Given the description of an element on the screen output the (x, y) to click on. 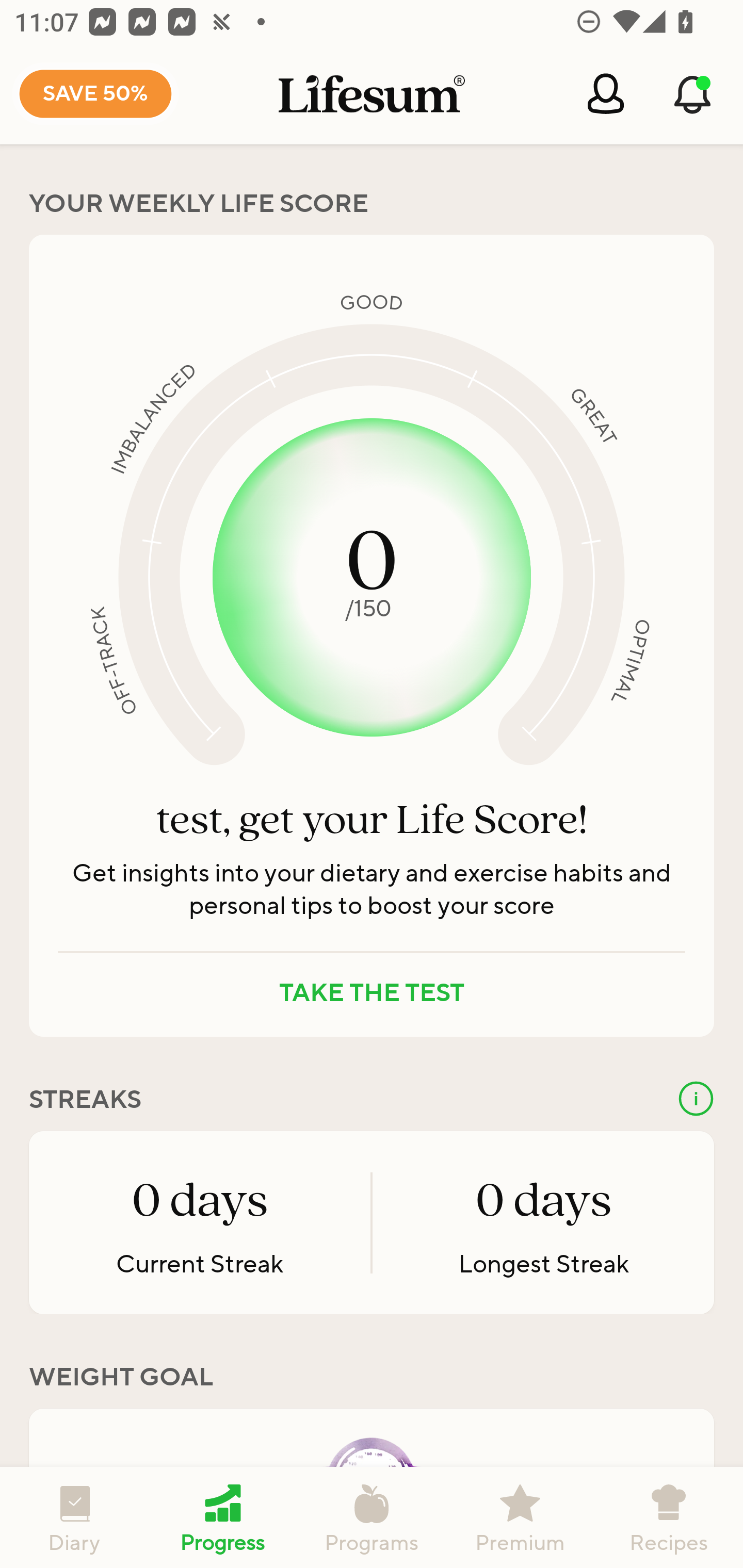
TAKE THE TEST (371, 993)
Diary (74, 1517)
Programs (371, 1517)
Premium (519, 1517)
Recipes (668, 1517)
